Given the description of an element on the screen output the (x, y) to click on. 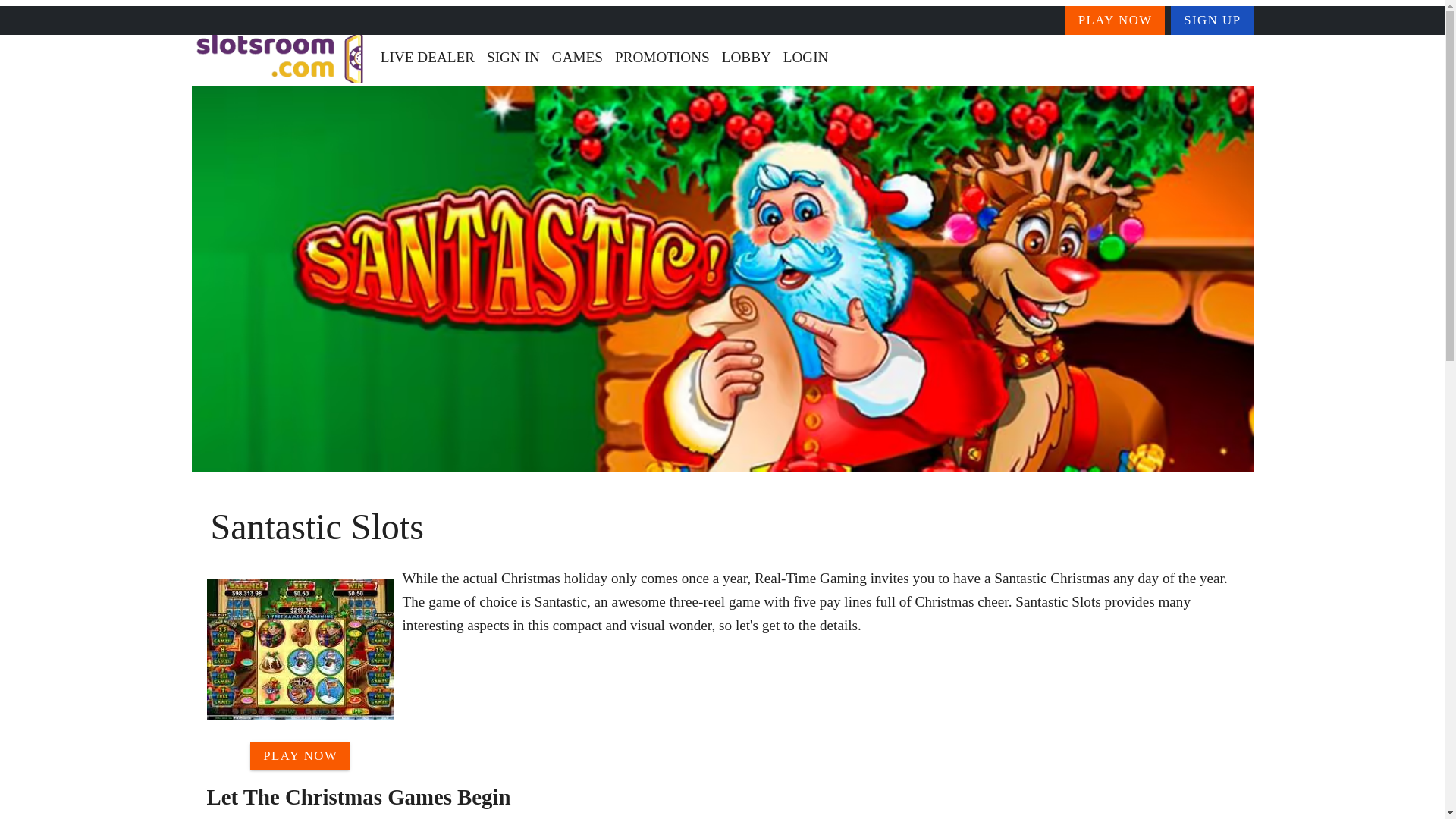
GAMES (577, 57)
LOGIN (805, 57)
SIGN IN (513, 57)
LOBBY (746, 57)
PLAY NOW (1114, 20)
LIVE DEALER (427, 57)
PROMOTIONS (662, 57)
PLAY NOW (300, 755)
SIGN UP (1211, 20)
